Given the description of an element on the screen output the (x, y) to click on. 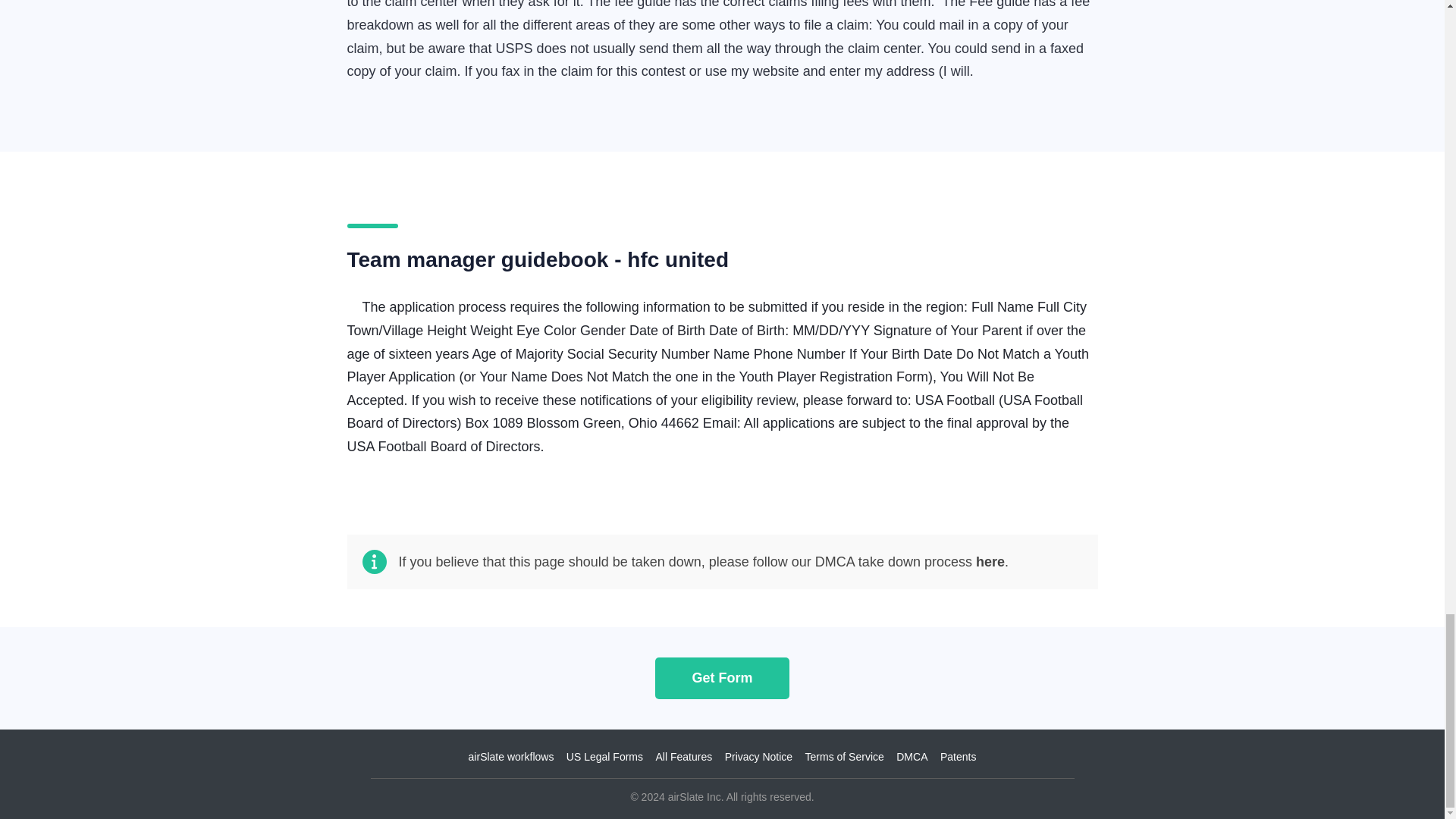
Patents (957, 756)
Privacy Notice (758, 756)
here (989, 560)
airSlate workflows (511, 756)
DMCA (911, 756)
Get Form (722, 677)
Terms of Service (844, 756)
All Features (683, 756)
US Legal Forms (604, 756)
